Given the description of an element on the screen output the (x, y) to click on. 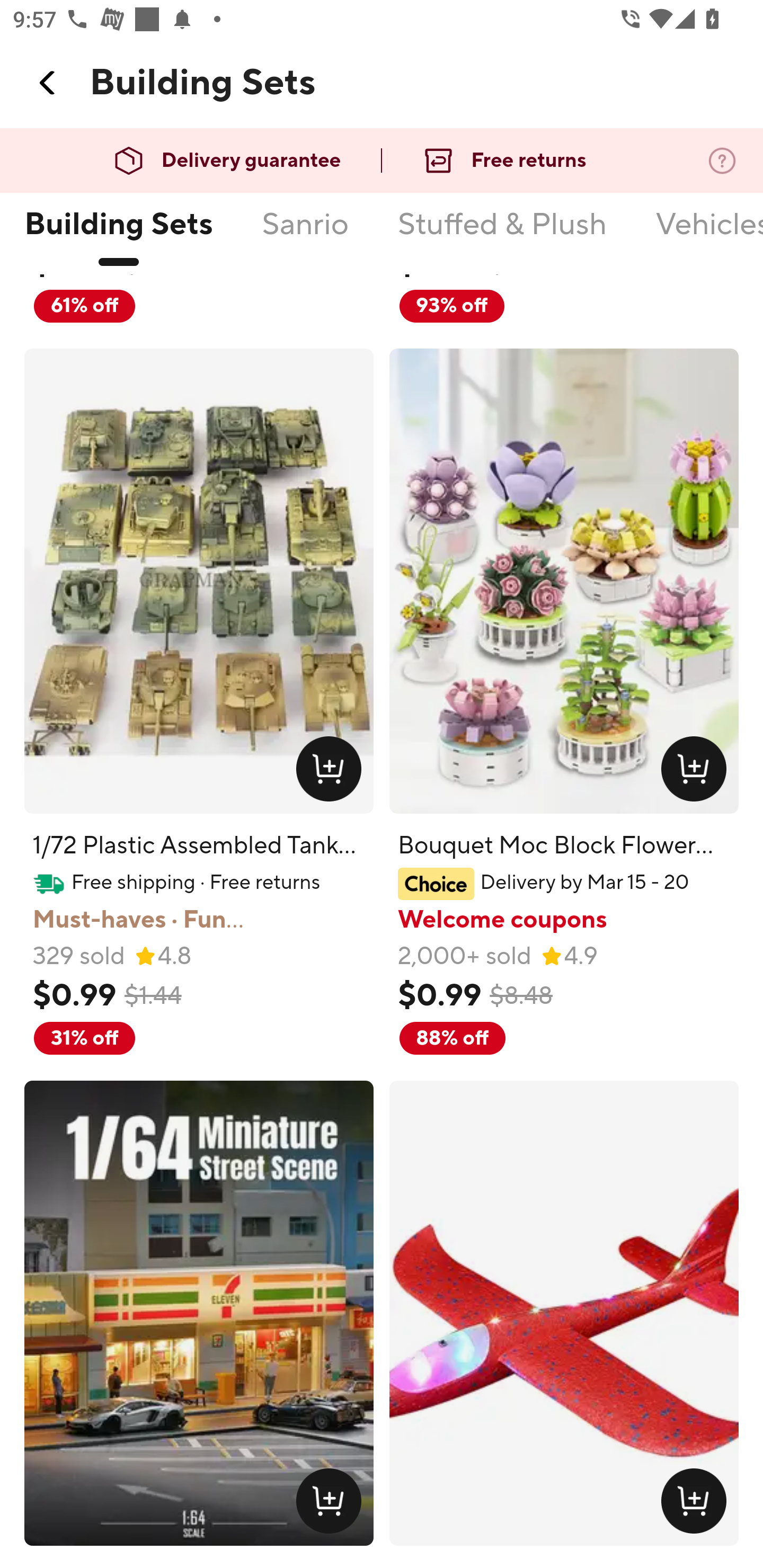
 (48, 82)
Building Sets (117, 235)
Sanrio (304, 235)
Stuffed & Plush (502, 235)
Vehicles (708, 235)
128x128.png_ (331, 772)
128x128.png_ (697, 772)
128x128.png_ (331, 1504)
128x128.png_ (697, 1504)
